Given the description of an element on the screen output the (x, y) to click on. 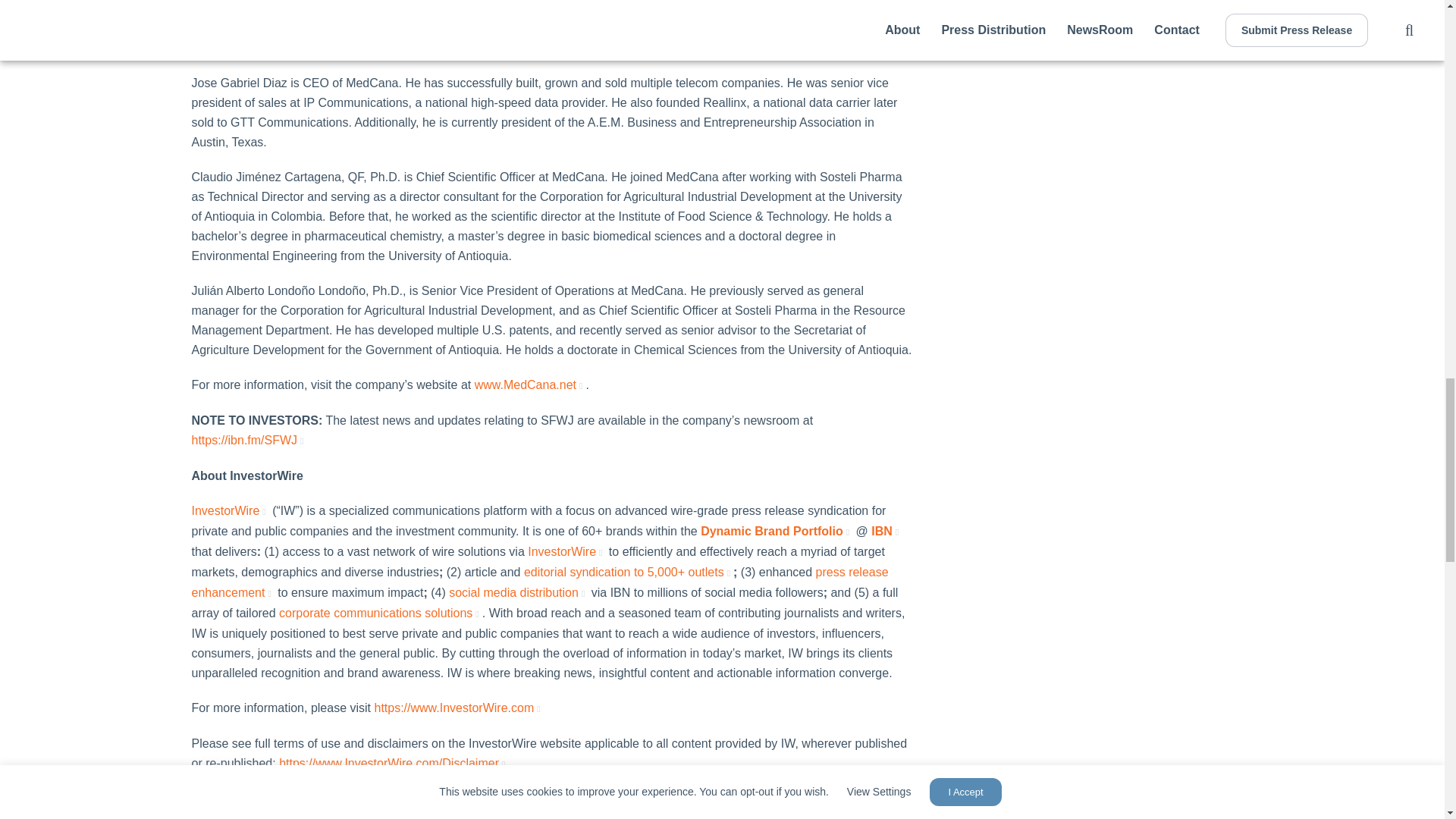
social media distribution (518, 592)
Dynamic Brand Portfolio (775, 530)
InvestorWire (566, 551)
IBN (885, 530)
InvestorWire (228, 510)
press release enhancement (539, 581)
www.MedCana.net (530, 384)
corporate communications solutions (380, 612)
